Given the description of an element on the screen output the (x, y) to click on. 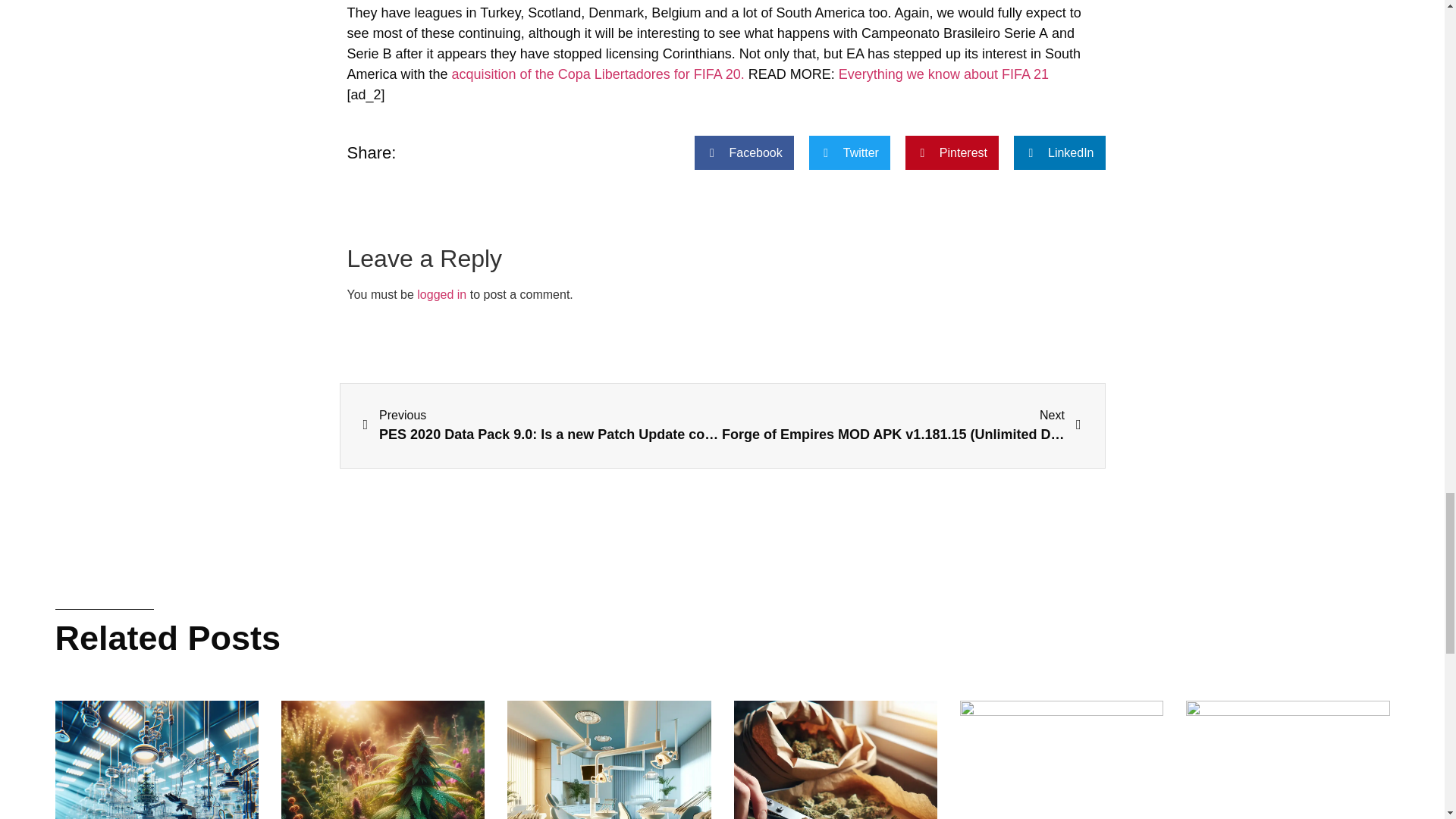
logged in (440, 294)
Everything we know about FIFA 21 (943, 73)
acquisition of the Copa Libertadores for FIFA 20. (599, 73)
